Given the description of an element on the screen output the (x, y) to click on. 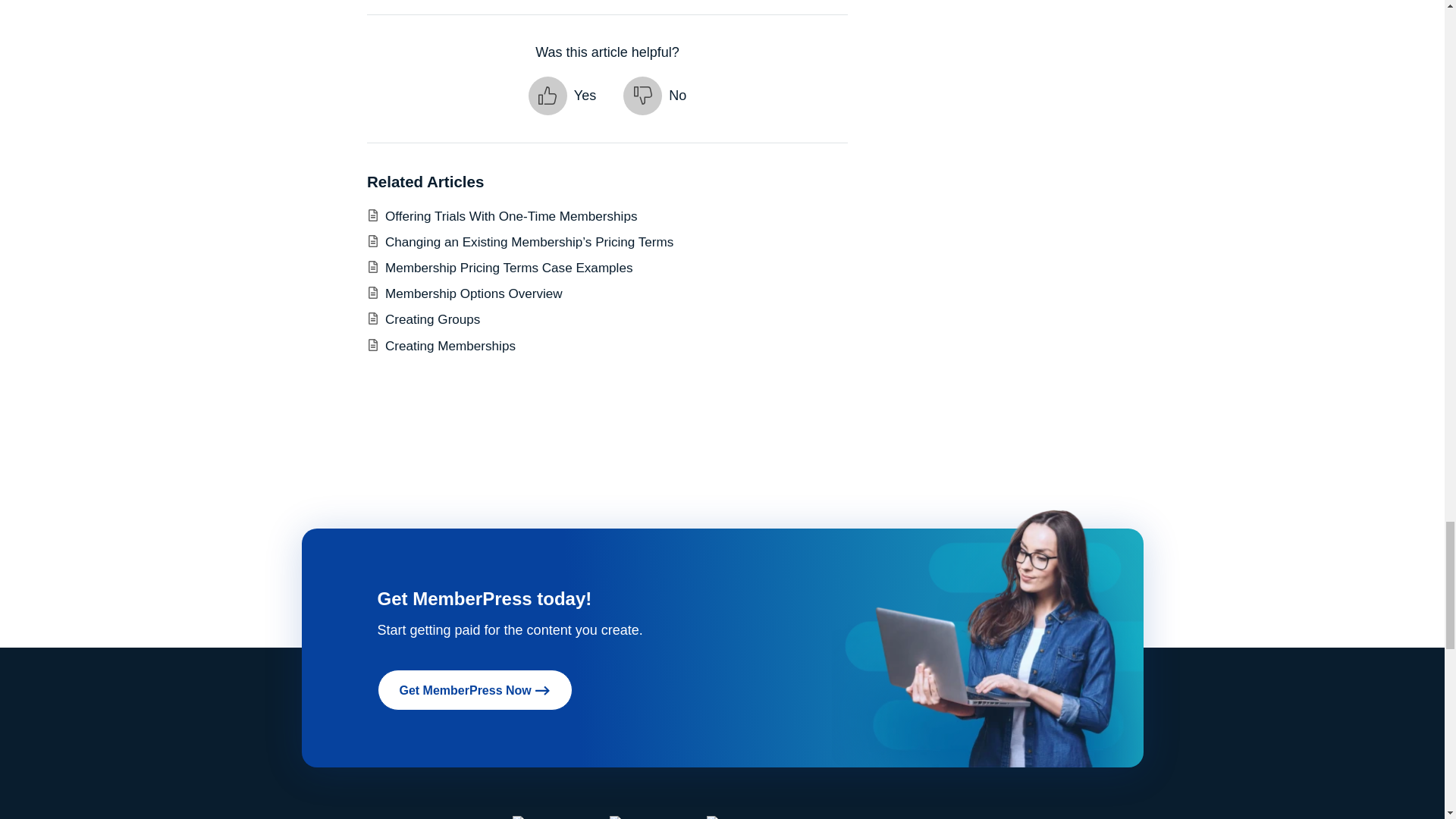
Creating Groups (432, 319)
Creating Memberships (450, 345)
Membership Options Overview (473, 293)
No (654, 95)
Offering Trials With One-Time Memberships (511, 216)
Membership Pricing Terms Case Examples (508, 268)
Yes (561, 95)
